Given the description of an element on the screen output the (x, y) to click on. 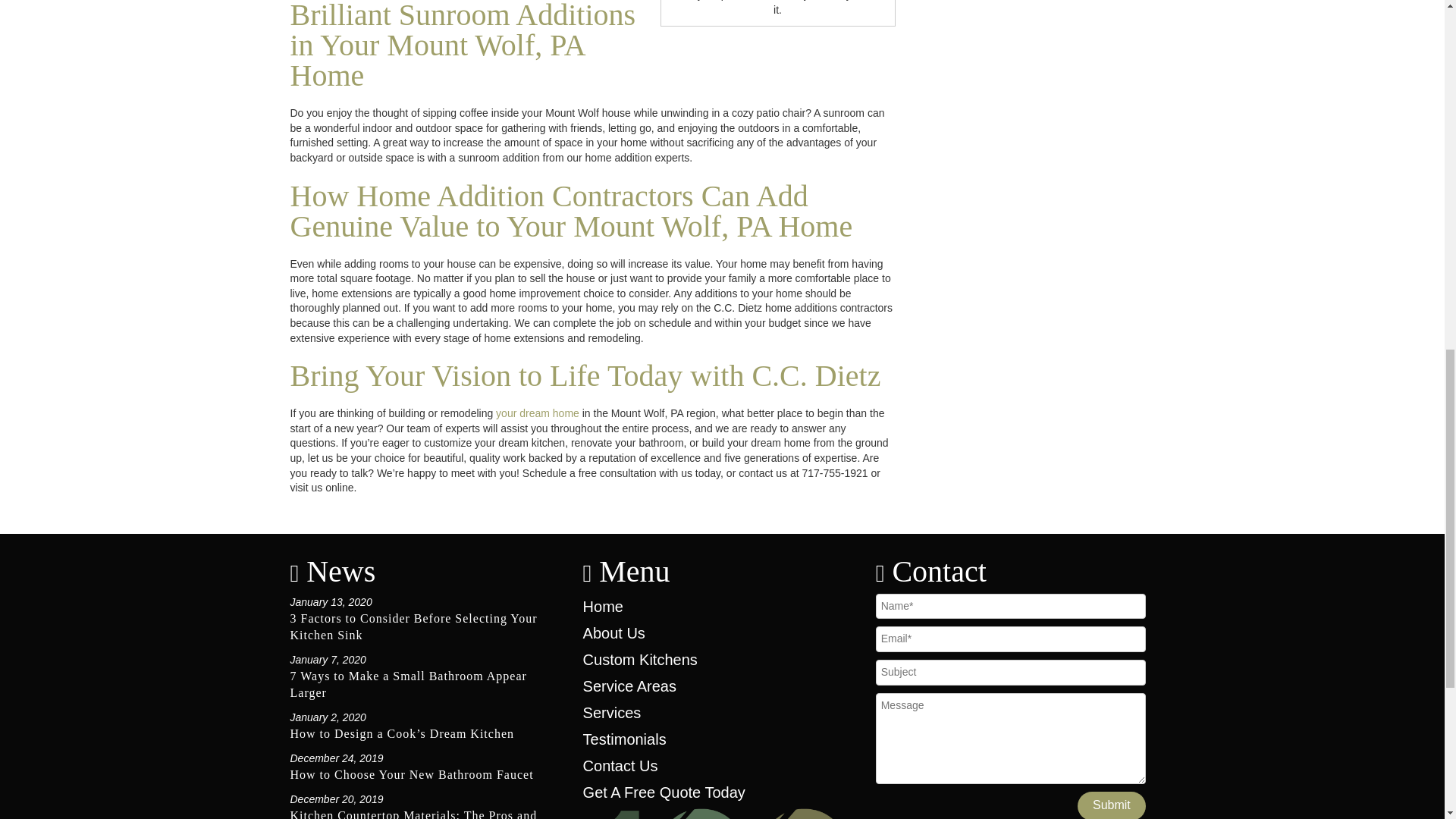
 your dream home (536, 413)
Services (612, 712)
How to Choose Your New Bathroom Faucet (410, 774)
About Us (614, 632)
Service Areas (630, 686)
Custom Kitchens (640, 659)
Submit (1111, 805)
Contact Us (620, 765)
Testimonials (624, 739)
Kitchen Countertop Materials: The Pros and Cons (413, 814)
